Given the description of an element on the screen output the (x, y) to click on. 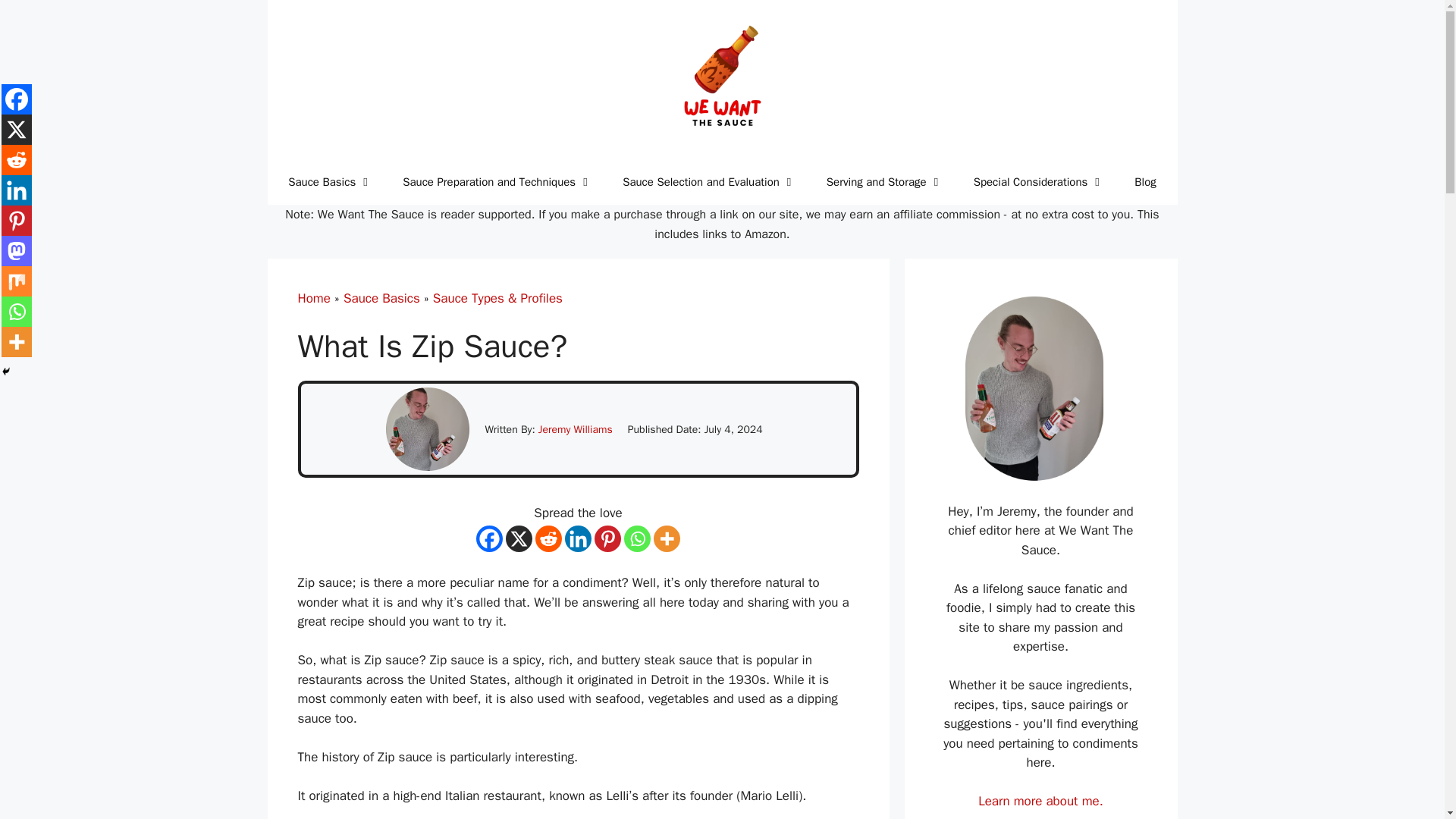
Facebook (489, 538)
Linkedin (577, 538)
Sauce Basics (330, 181)
Sauce Preparation and Techniques (497, 181)
X (518, 538)
More (666, 538)
Sauce Selection and Evaluation (708, 181)
Whatsapp (637, 538)
Special Considerations (1038, 181)
Reddit (548, 538)
Serving and Storage (884, 181)
Pinterest (607, 538)
